Given the description of an element on the screen output the (x, y) to click on. 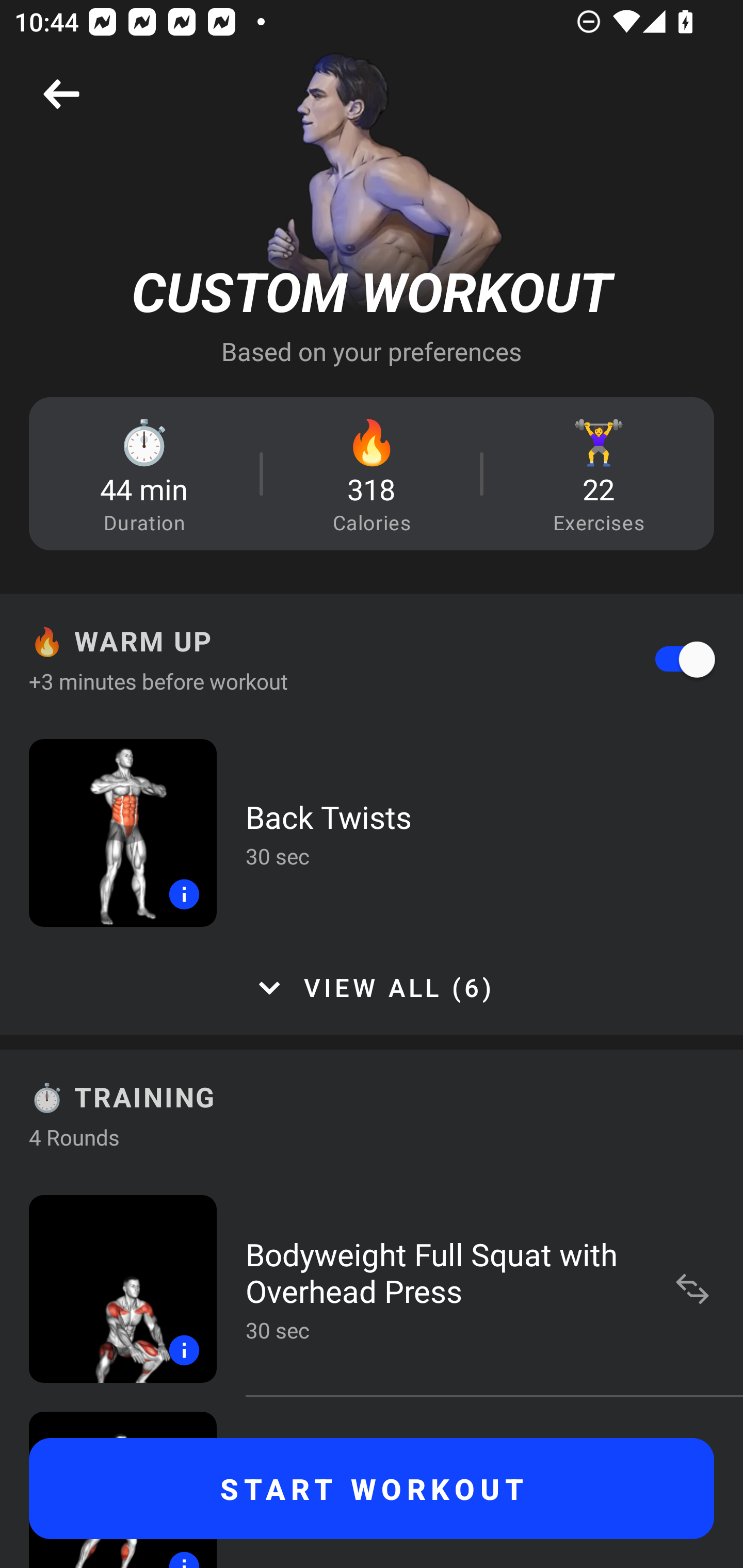
Back Twists 30 sec (371, 832)
VIEW ALL (6) (371, 987)
Bodyweight Full Squat with Overhead Press 30 sec (371, 1288)
START WORKOUT (371, 1488)
